Given the description of an element on the screen output the (x, y) to click on. 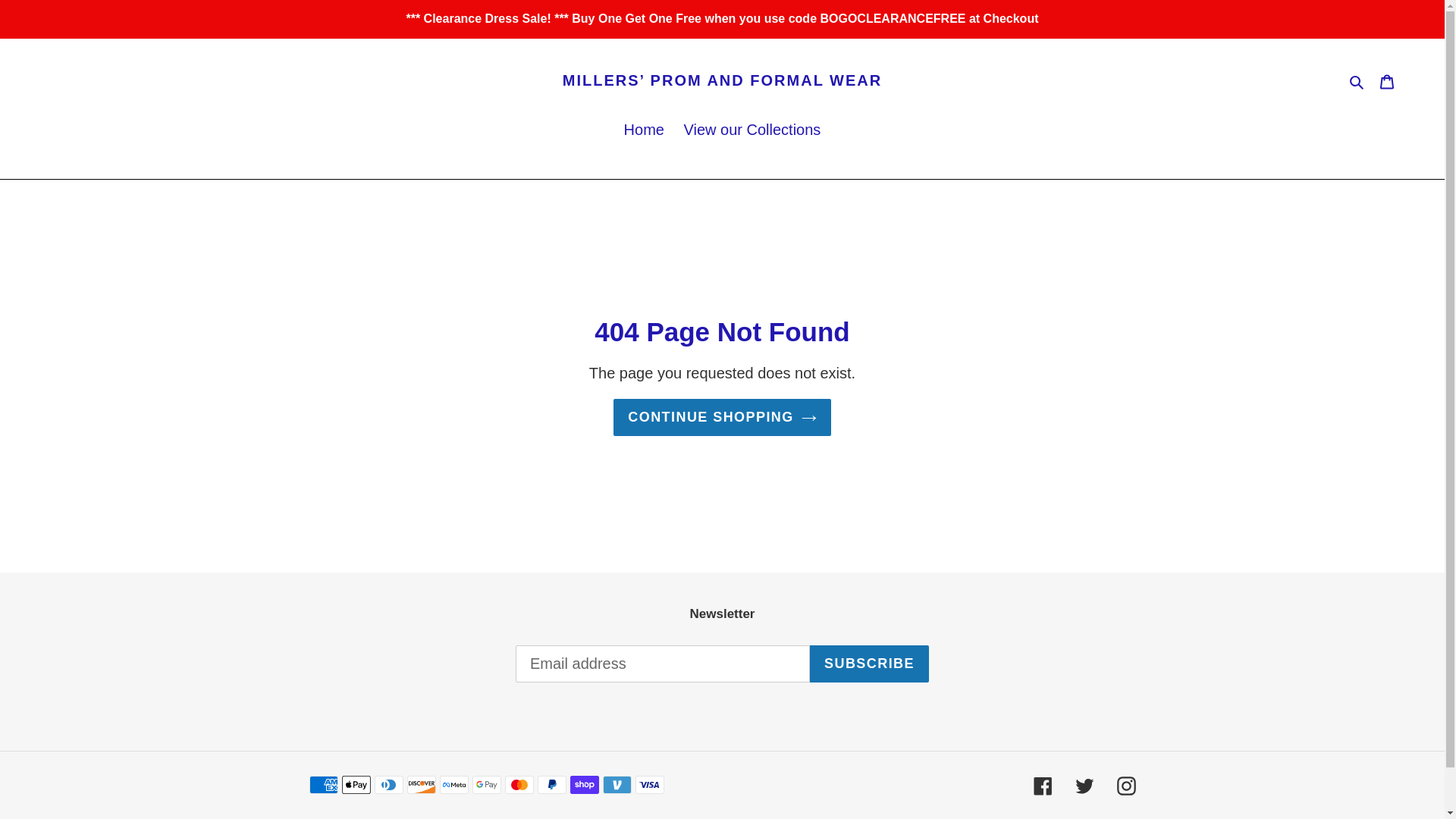
Search (1357, 79)
SUBSCRIBE (868, 663)
CONTINUE SHOPPING (721, 416)
Home (643, 130)
View our Collections (752, 130)
